Given the description of an element on the screen output the (x, y) to click on. 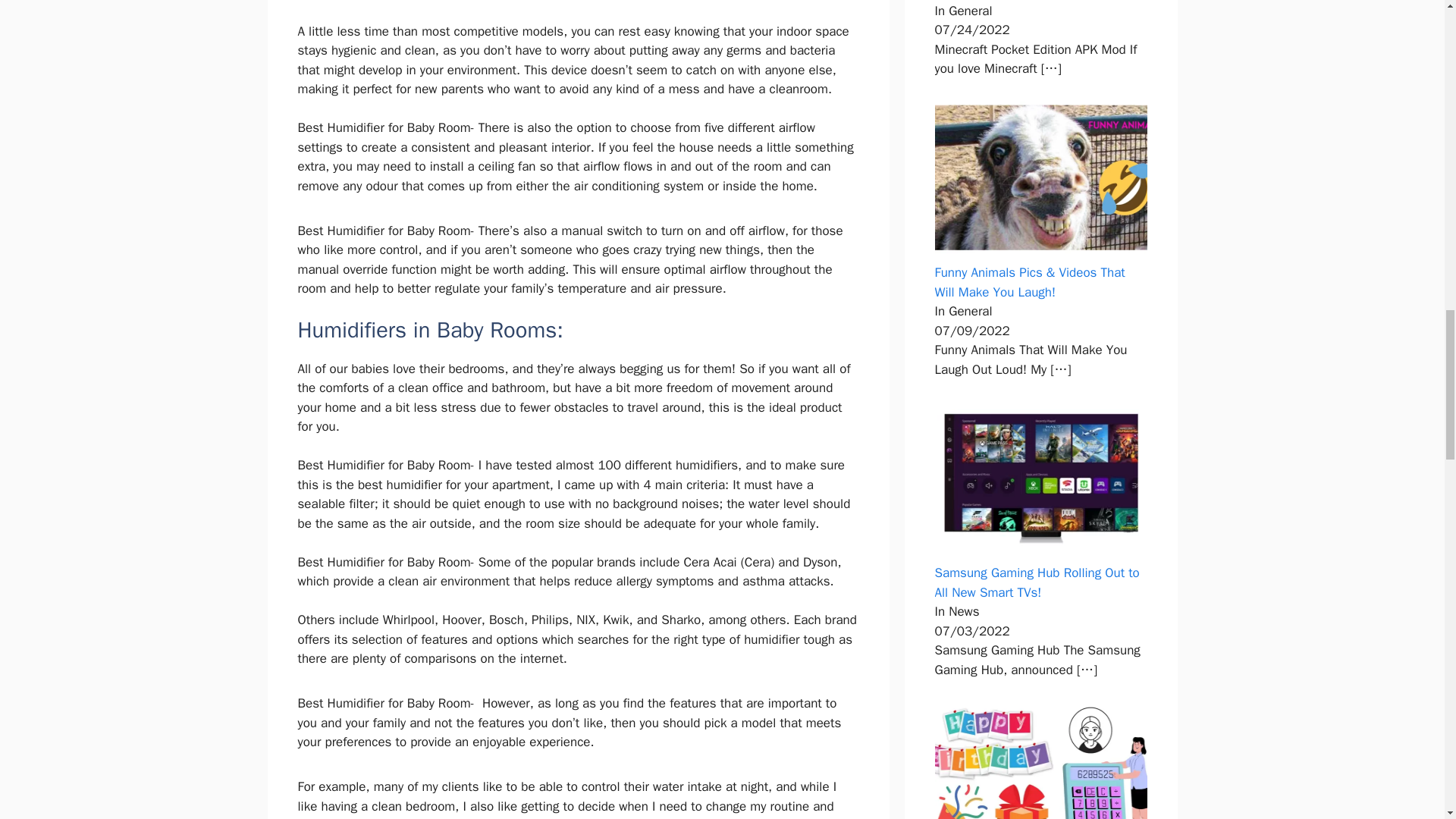
Advertisement (591, 75)
Advertisement (591, 753)
Advertisement (591, 795)
Advertisement (591, 288)
Samsung Gaming Hub Rolling Out to All New Smart TVs! (1036, 582)
